Given the description of an element on the screen output the (x, y) to click on. 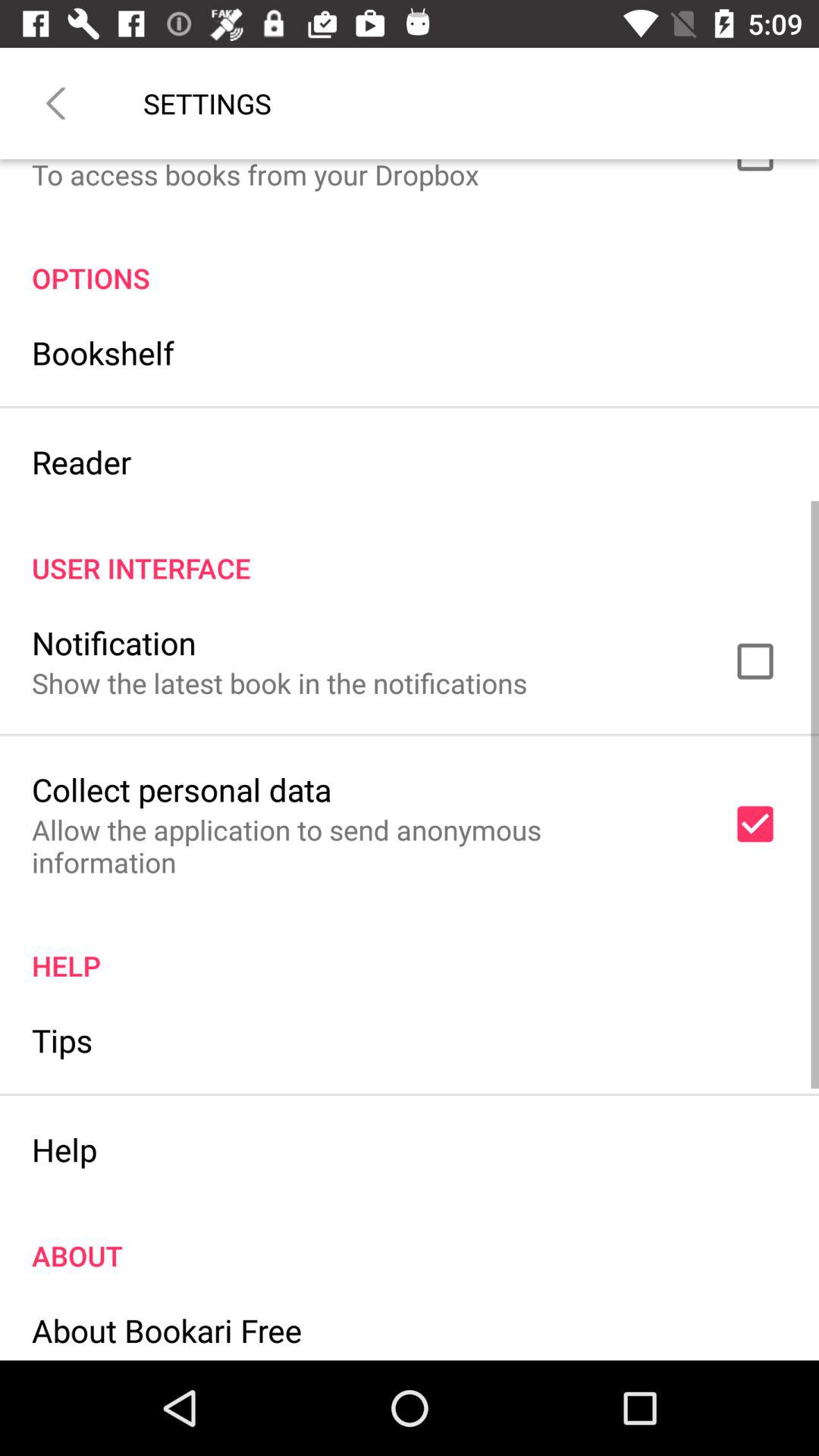
choose the allow the application item (361, 845)
